Given the description of an element on the screen output the (x, y) to click on. 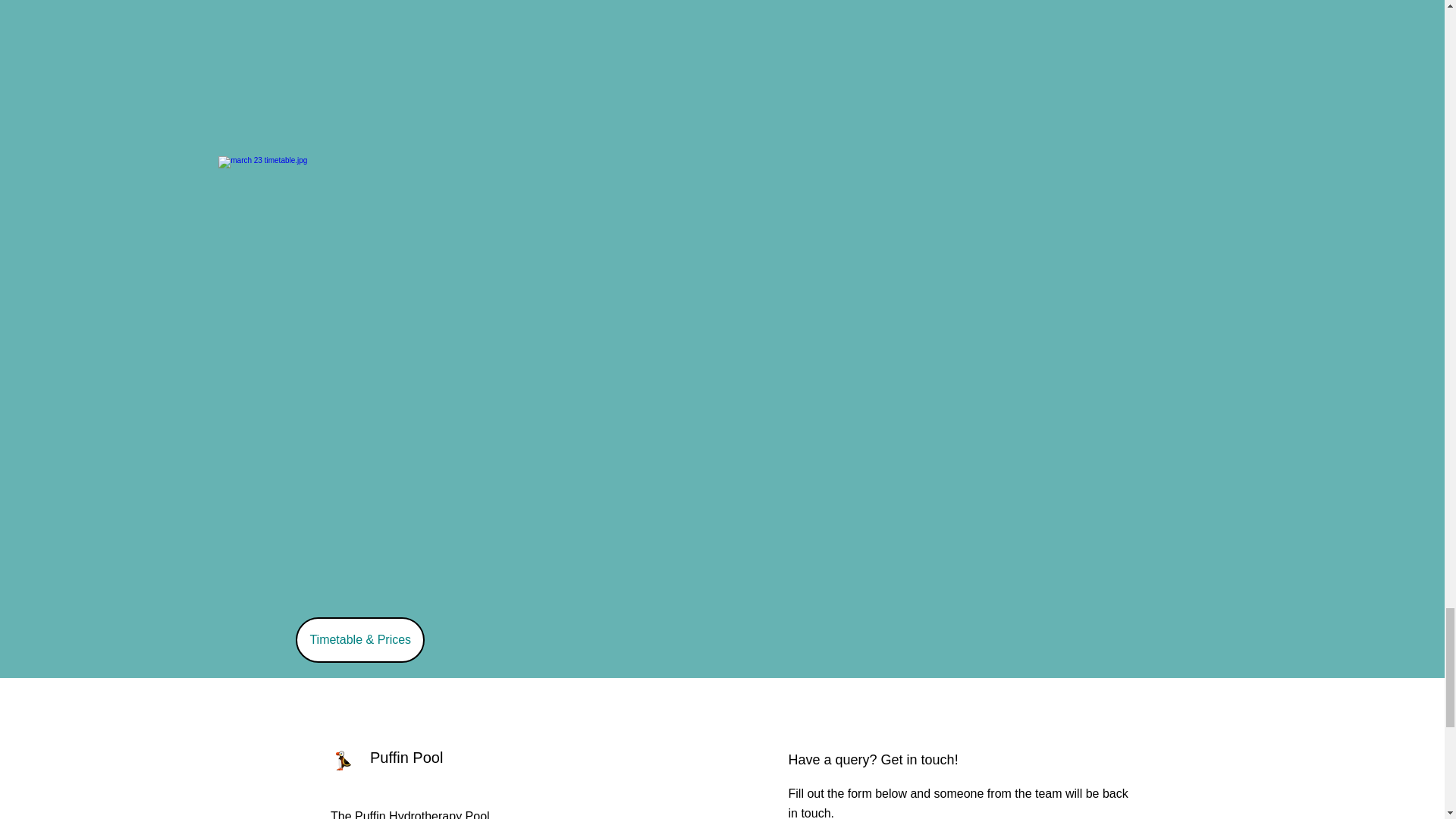
Puffin Pool (405, 757)
